Given the description of an element on the screen output the (x, y) to click on. 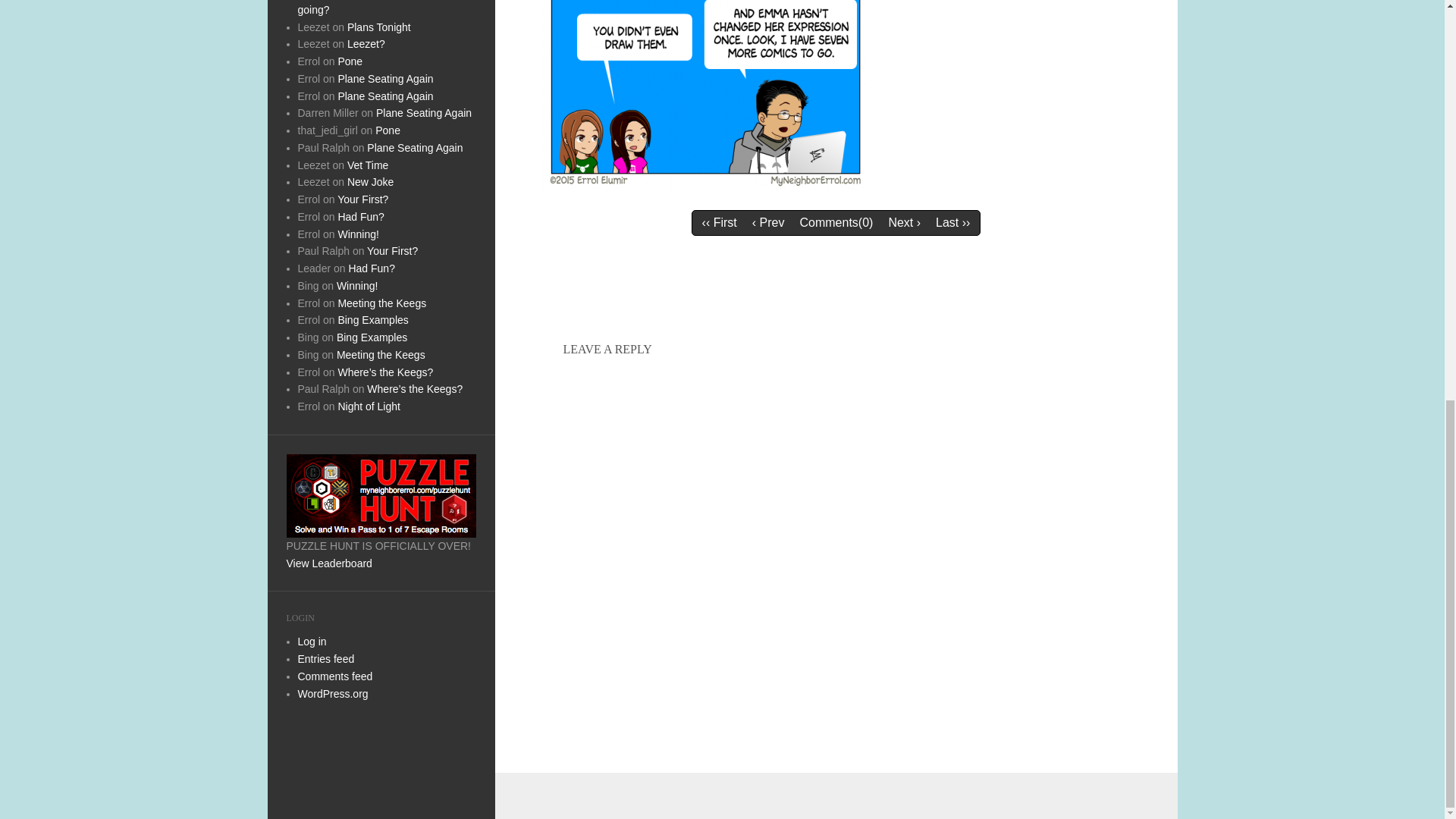
Pone (387, 130)
Plans Tonight (378, 26)
Had Fun? (360, 216)
Winning! (357, 234)
Leezet? (366, 43)
Plane Seating Again (384, 96)
Vet Time (367, 164)
Plane Seating Again (384, 78)
New Joke (370, 182)
